Given the description of an element on the screen output the (x, y) to click on. 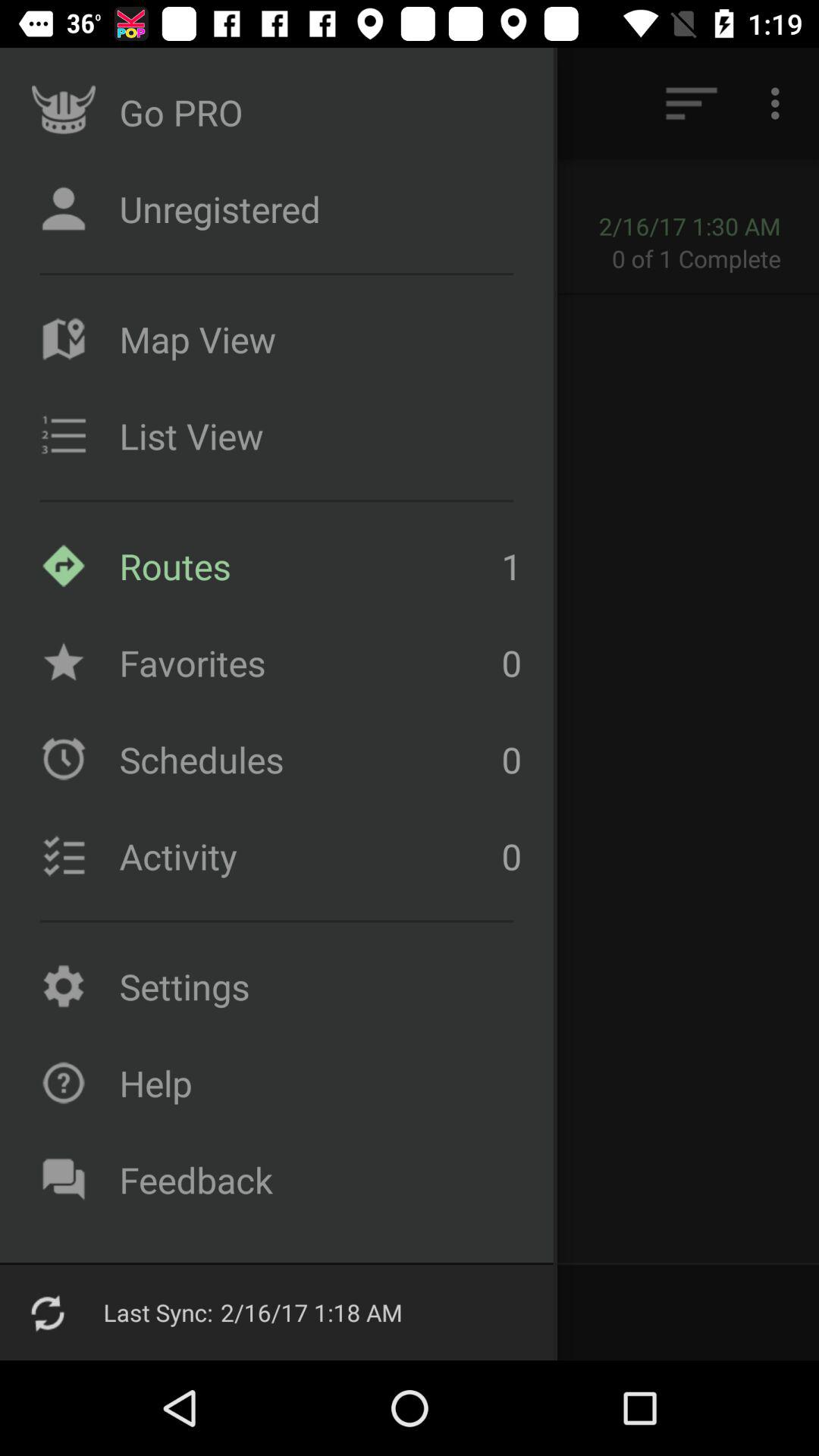
turn off item to the left of the 0 of 1 item (383, 258)
